Given the description of an element on the screen output the (x, y) to click on. 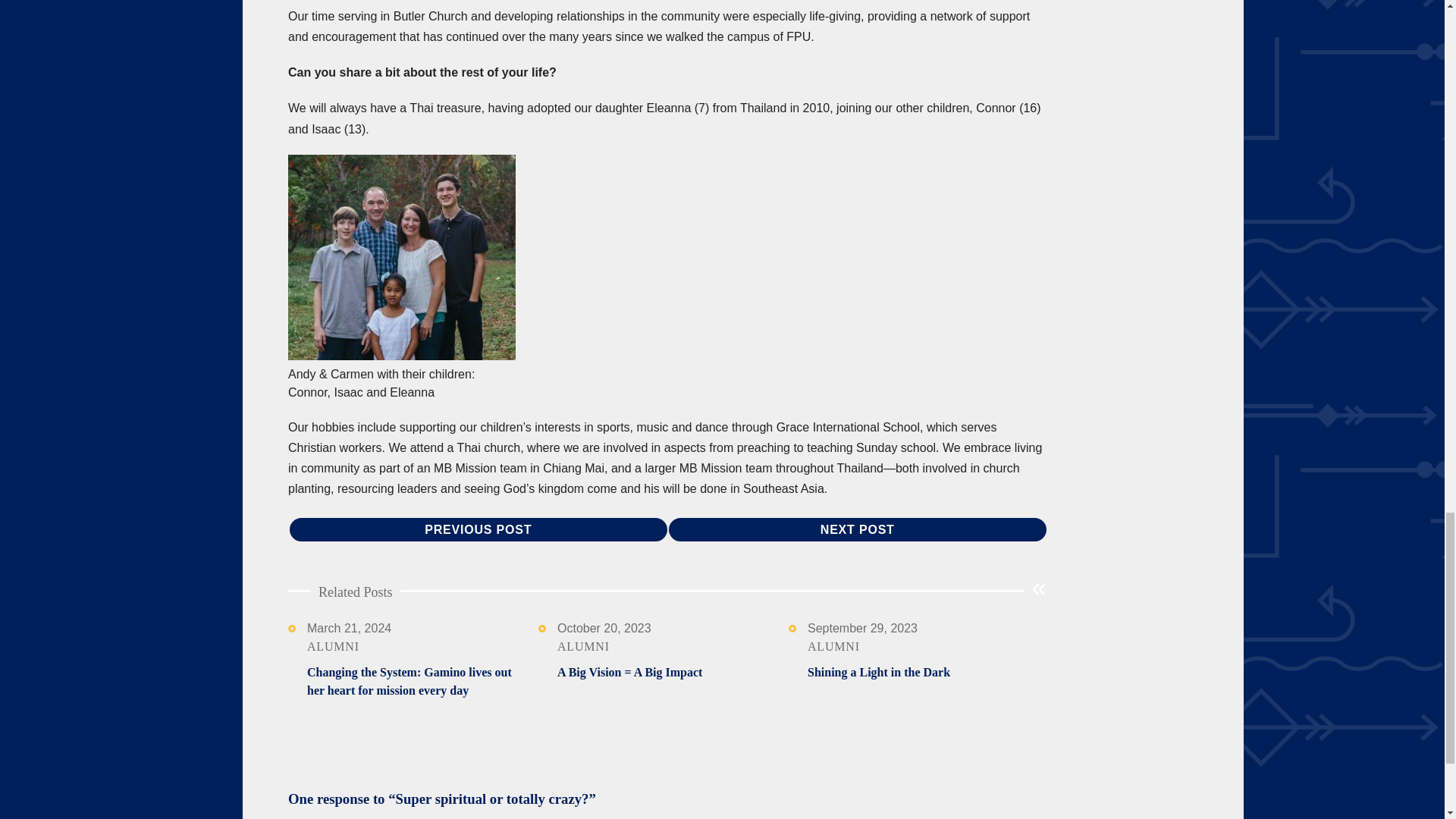
PREVIOUS POST (478, 529)
NEXT POST (857, 529)
Shining a Light in the Dark (879, 671)
PREVIOUS POST (477, 529)
NEXT POST (857, 529)
Rodrigo in Rio (857, 529)
A scary start to a great career (478, 529)
